Given the description of an element on the screen output the (x, y) to click on. 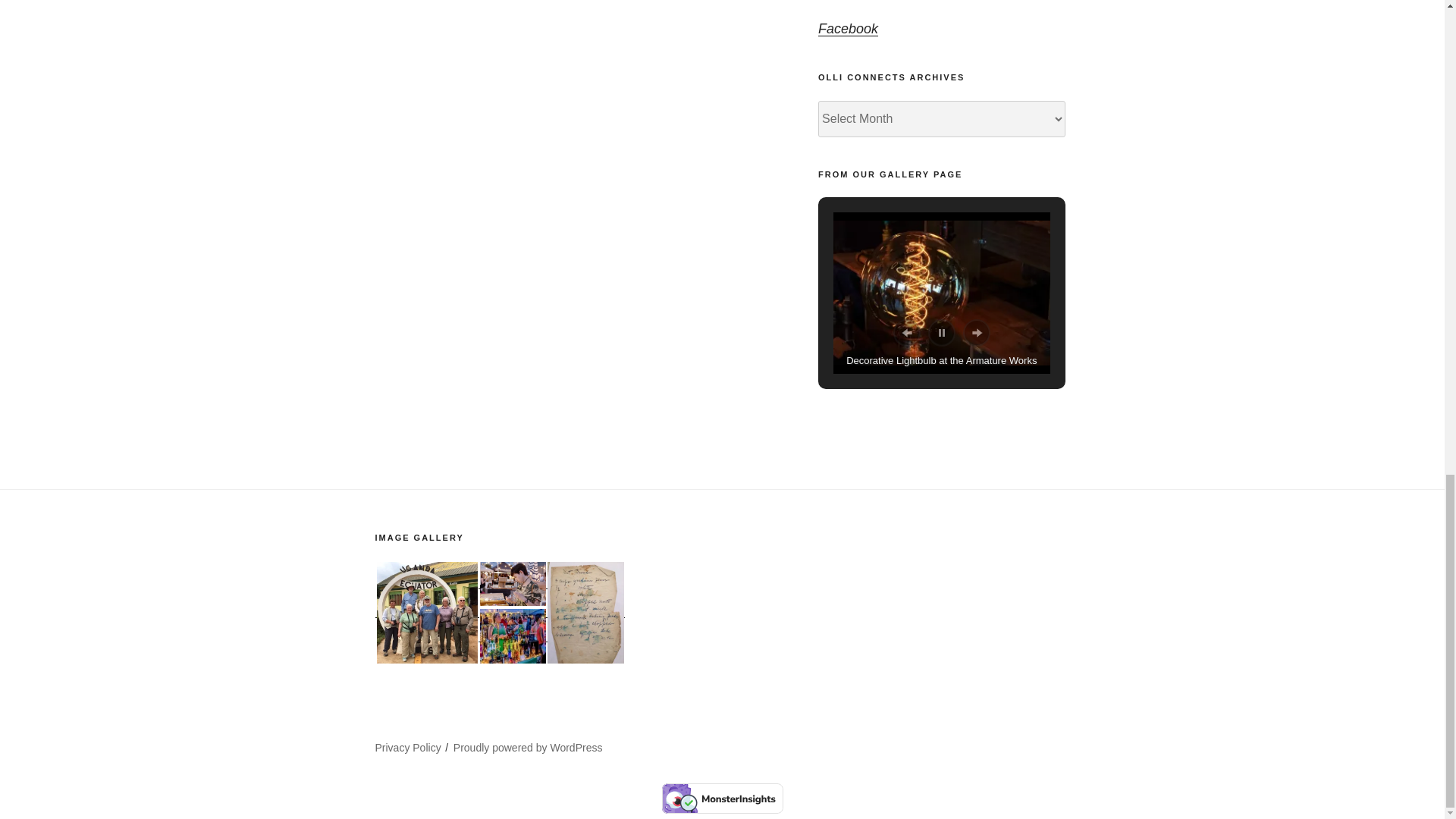
Facebook (847, 28)
Privacy Policy (407, 747)
Proudly powered by WordPress (527, 747)
